Given the description of an element on the screen output the (x, y) to click on. 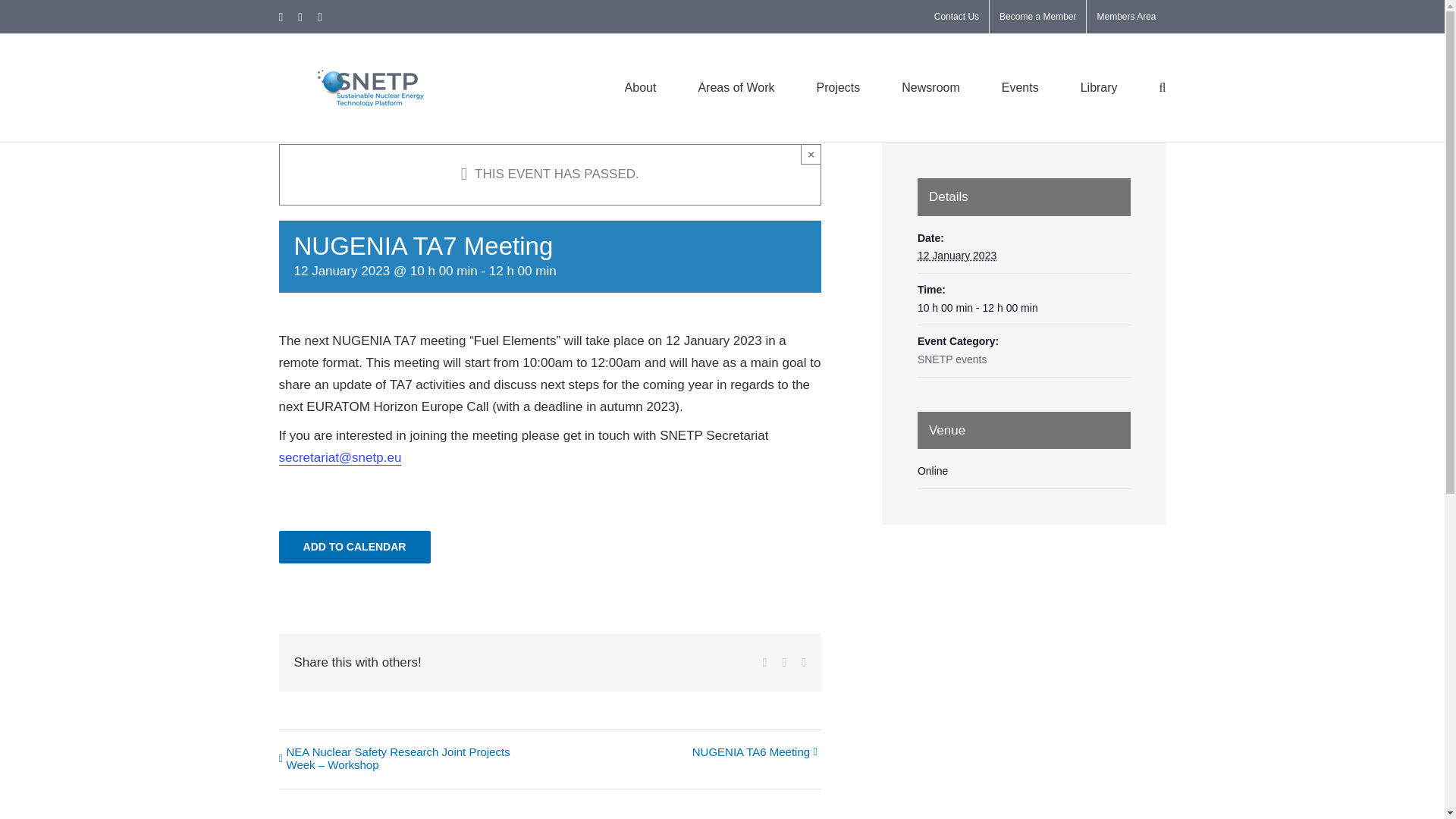
Become a Member (1038, 16)
Members Area (1126, 16)
2023-01-12 (956, 255)
Contact Us (956, 16)
2023-01-12 (1024, 308)
